Given the description of an element on the screen output the (x, y) to click on. 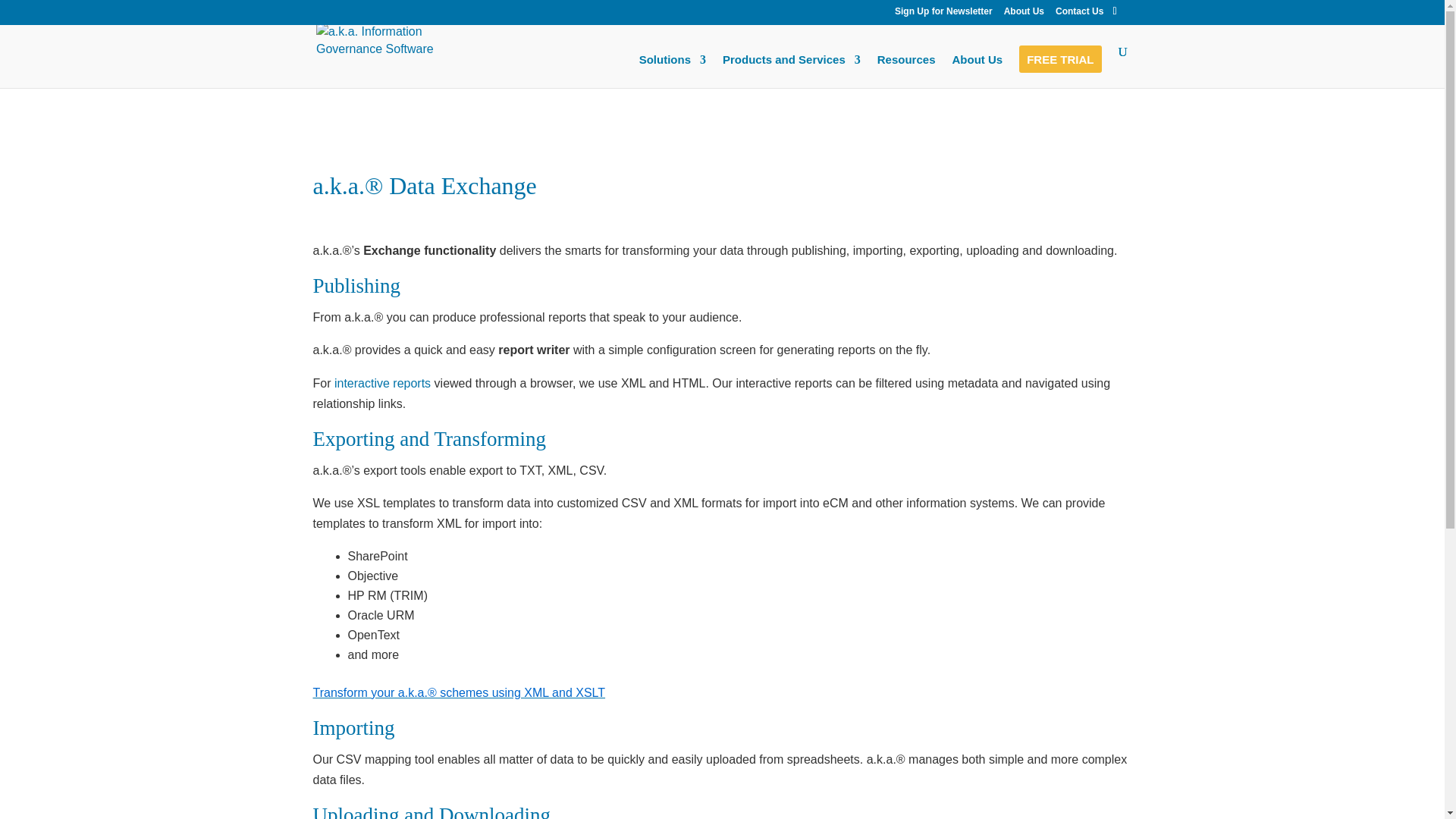
Resources (906, 70)
Products and Services (791, 70)
Solutions (672, 70)
Contact Us (1079, 14)
Sign Up for Newsletter (943, 14)
About Us (977, 70)
About Us (1023, 14)
FREE TRIAL (1059, 70)
